Given the description of an element on the screen output the (x, y) to click on. 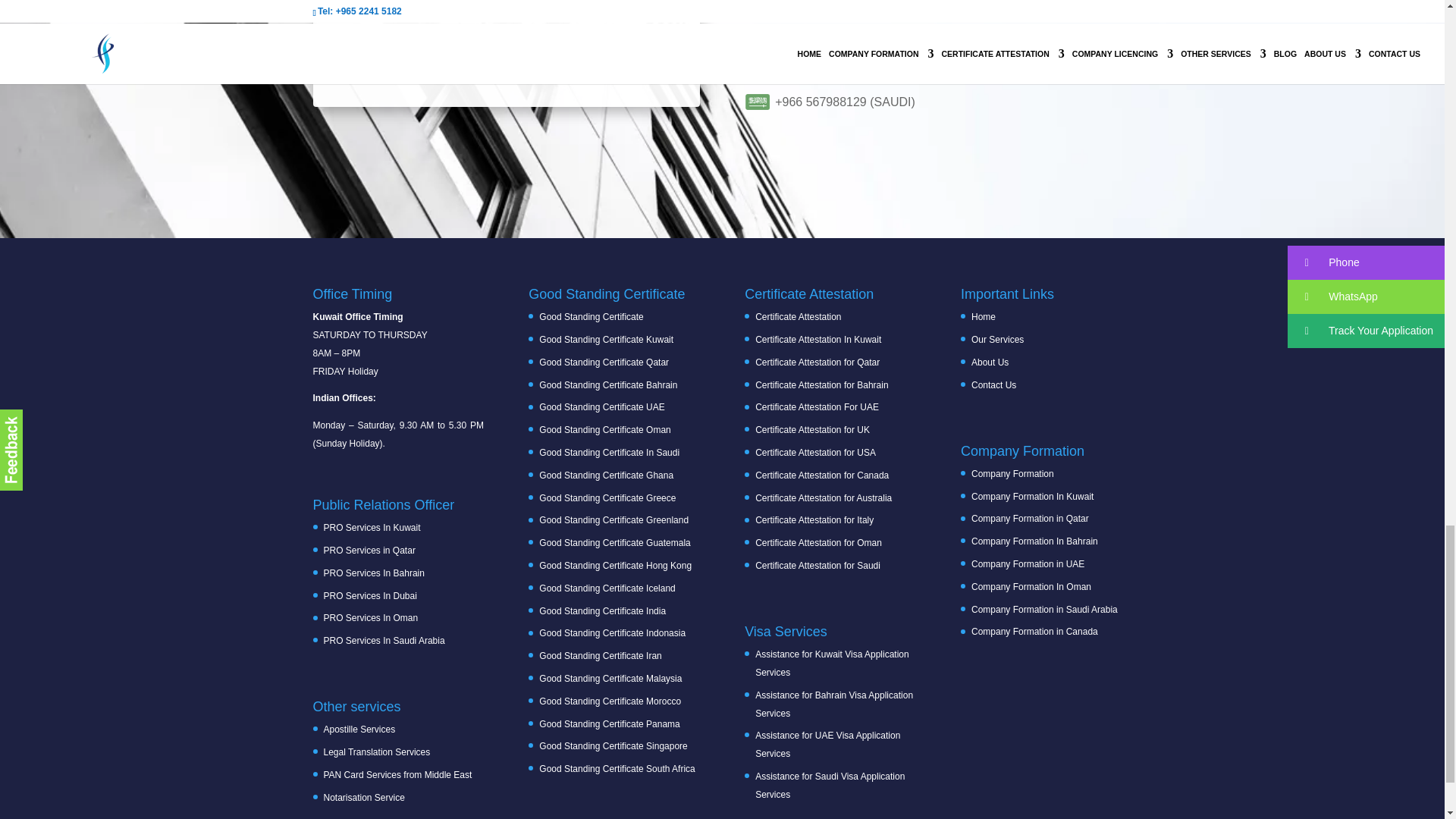
Submit (360, 56)
